Given the description of an element on the screen output the (x, y) to click on. 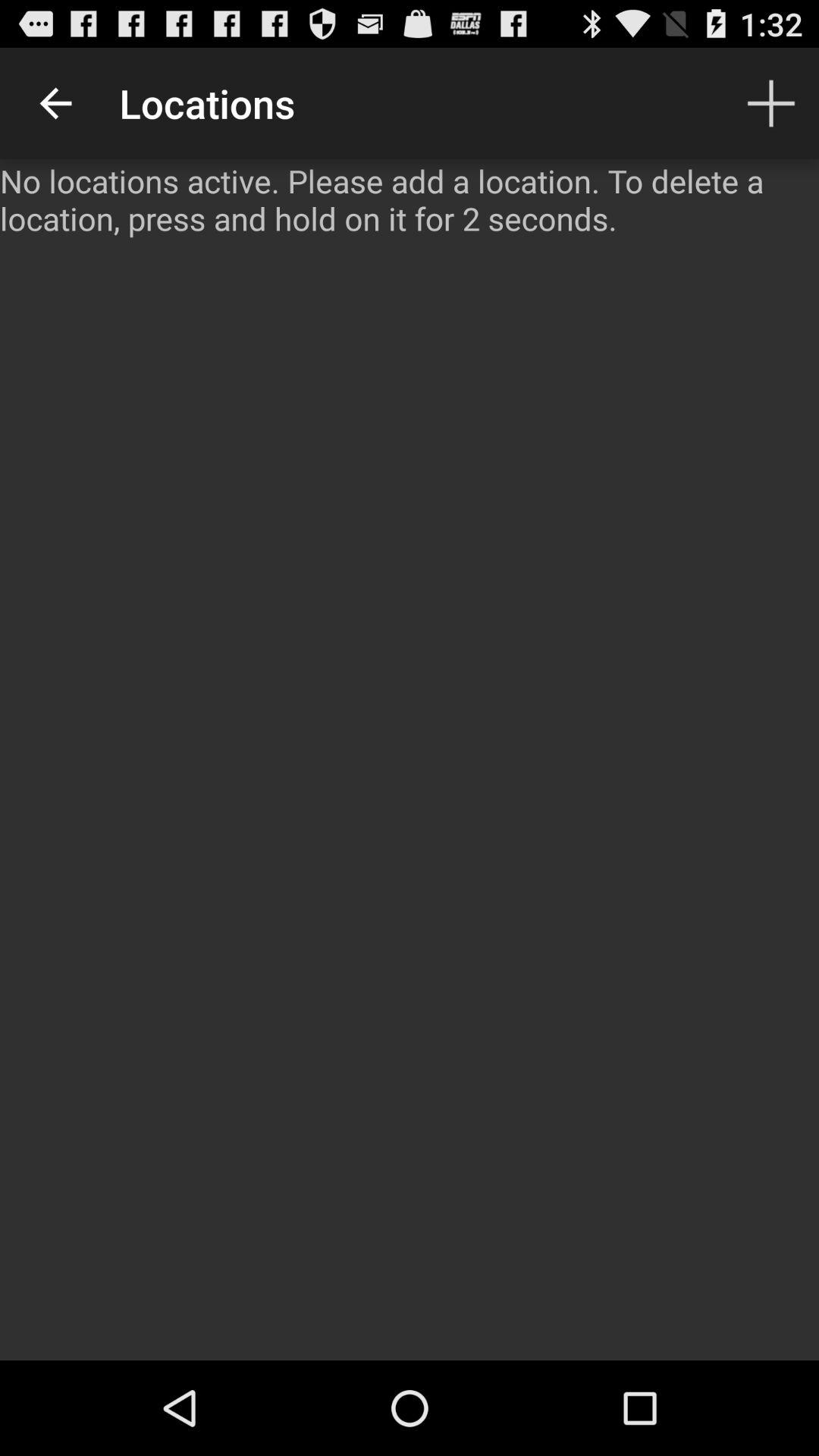
turn on the app next to the locations icon (55, 103)
